Given the description of an element on the screen output the (x, y) to click on. 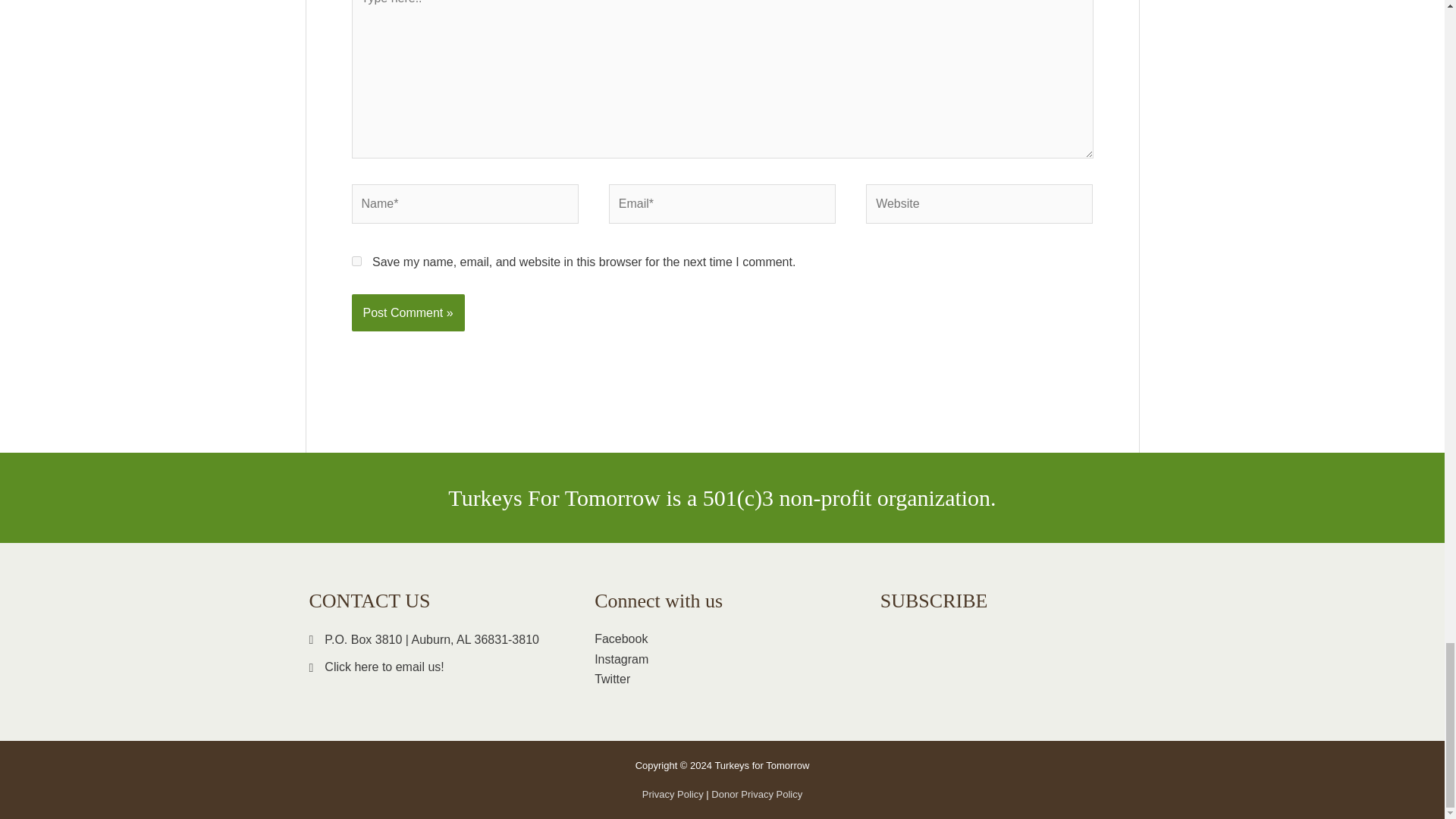
yes (356, 261)
